Given the description of an element on the screen output the (x, y) to click on. 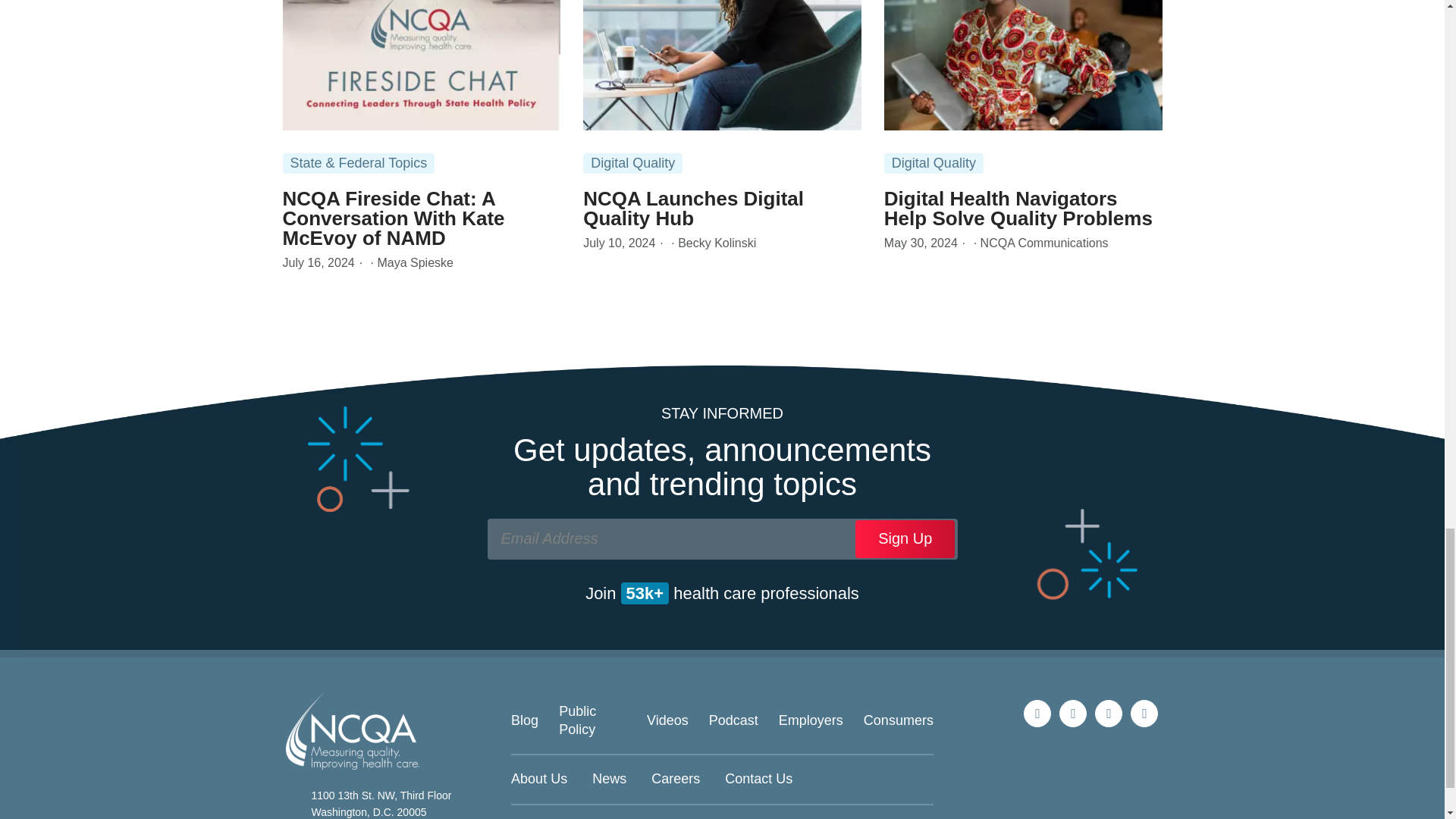
Follow us on X (1037, 713)
Sign Up (905, 538)
Join us on Linkedin (1072, 713)
Join us on Facebook (1108, 713)
Watch us on YouTube (1144, 713)
